Given the description of an element on the screen output the (x, y) to click on. 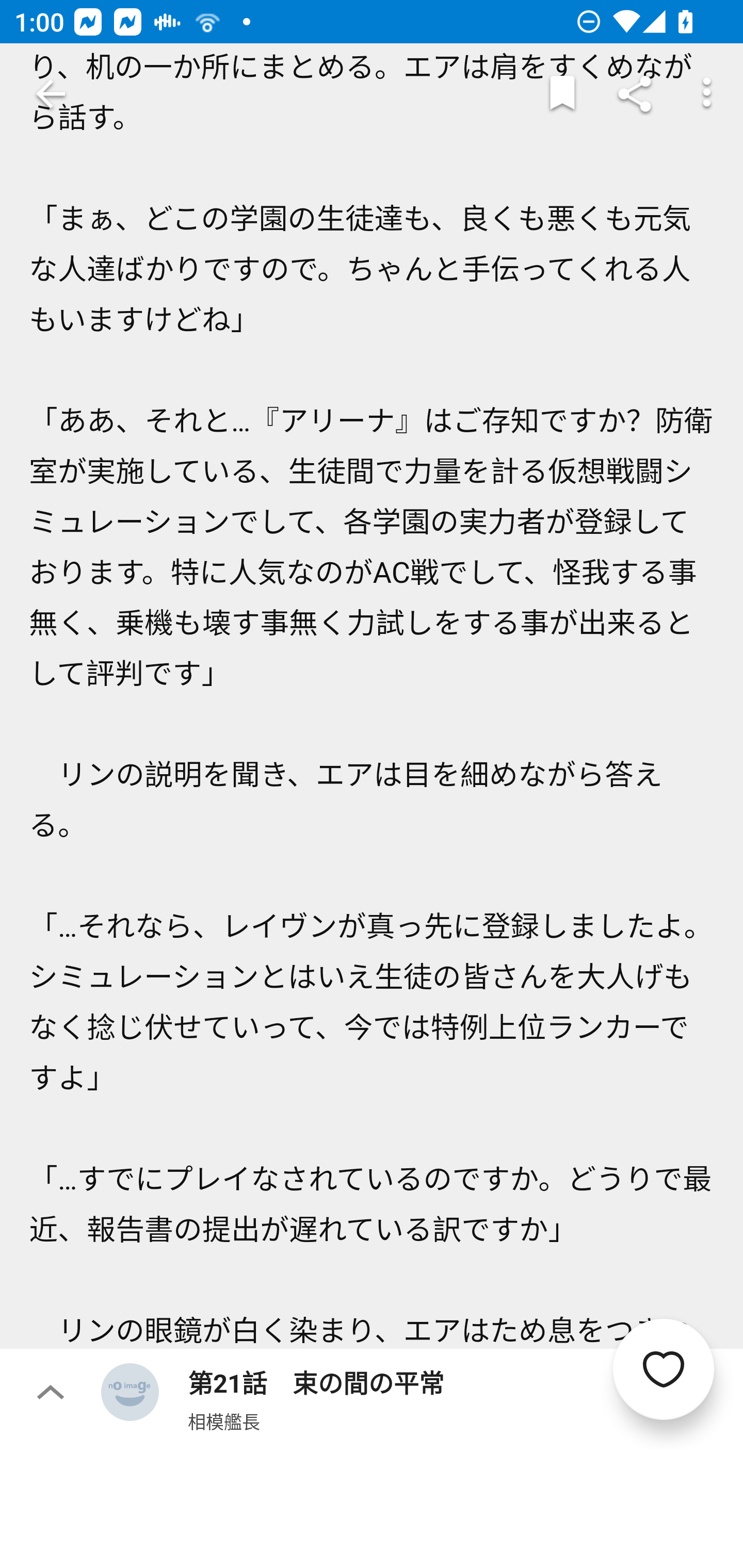
Navigate up (50, 93)
Markers (562, 93)
Share (634, 93)
More options (706, 93)
相模艦長 (223, 1421)
